Given the description of an element on the screen output the (x, y) to click on. 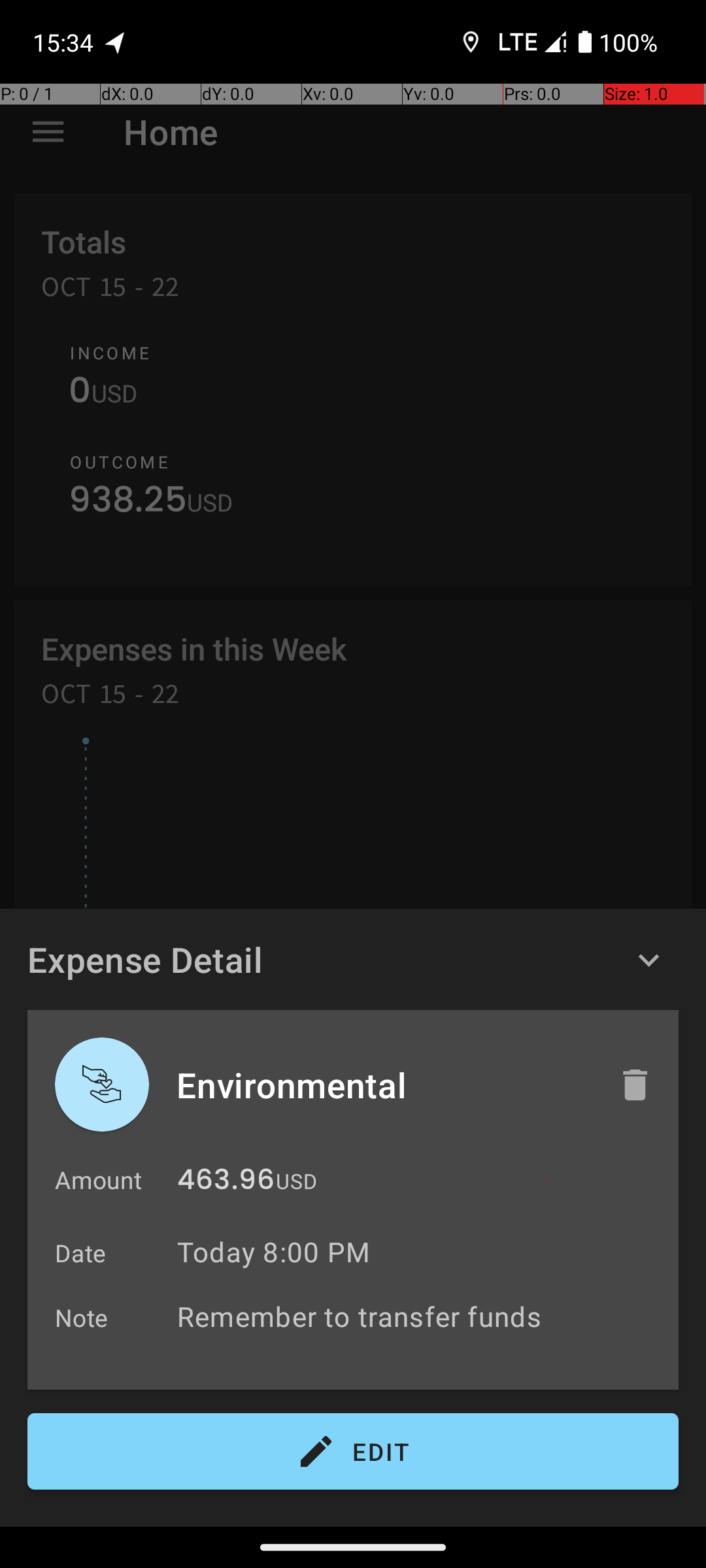
Environmental Element type: android.widget.TextView (383, 1084)
463.96 Element type: android.widget.TextView (225, 1182)
